Given the description of an element on the screen output the (x, y) to click on. 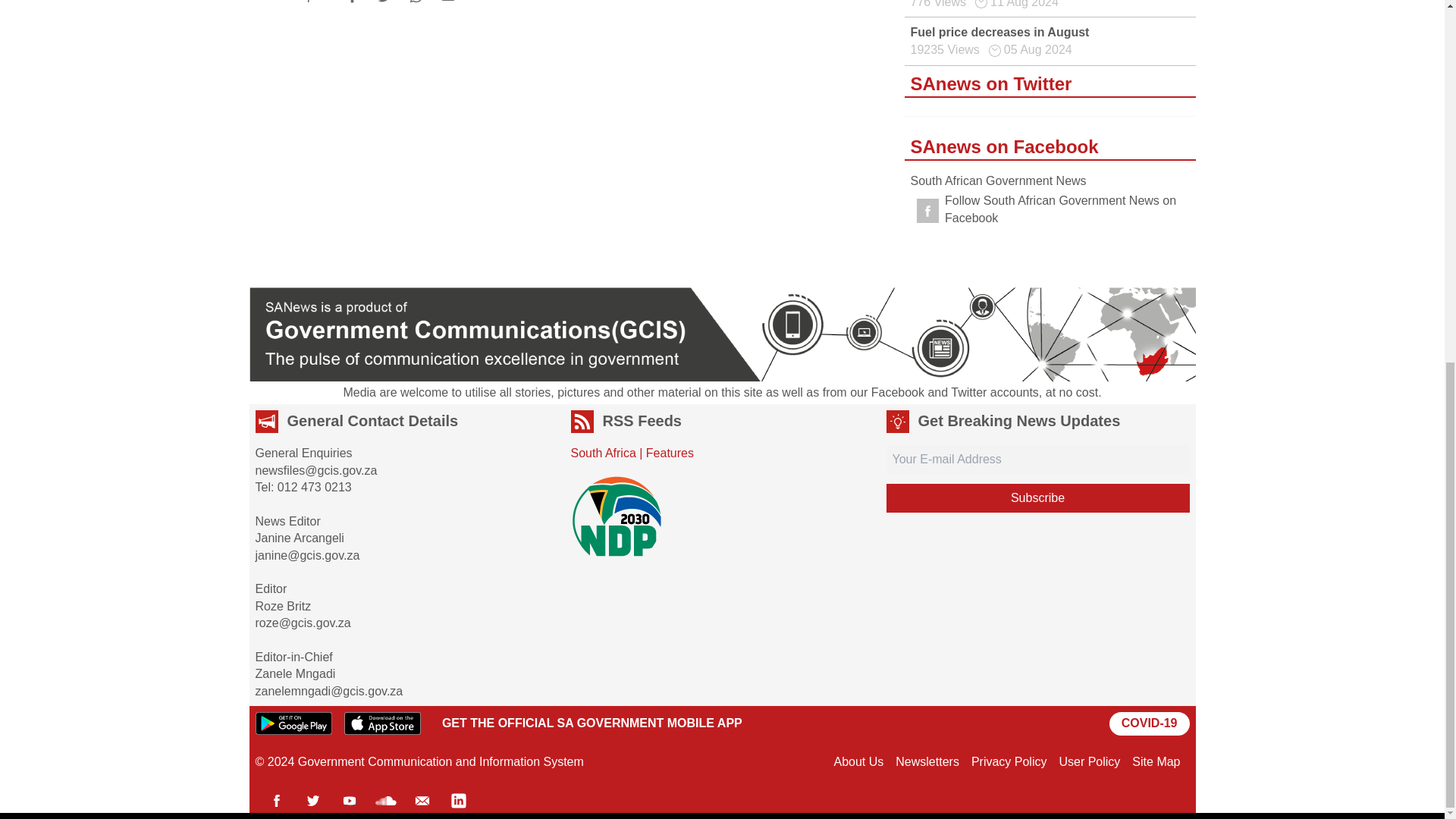
Follow South African Government News on Facebook (1049, 209)
South African Government News (998, 180)
South Africa (602, 452)
Share on Facebook (352, 6)
Download from the Google Play Store (292, 722)
Download from the iTunes App Store (381, 722)
Features (670, 452)
Subscribe (1037, 498)
Fuel price decreases in August (999, 31)
Share on WhatsApp (416, 6)
